Given the description of an element on the screen output the (x, y) to click on. 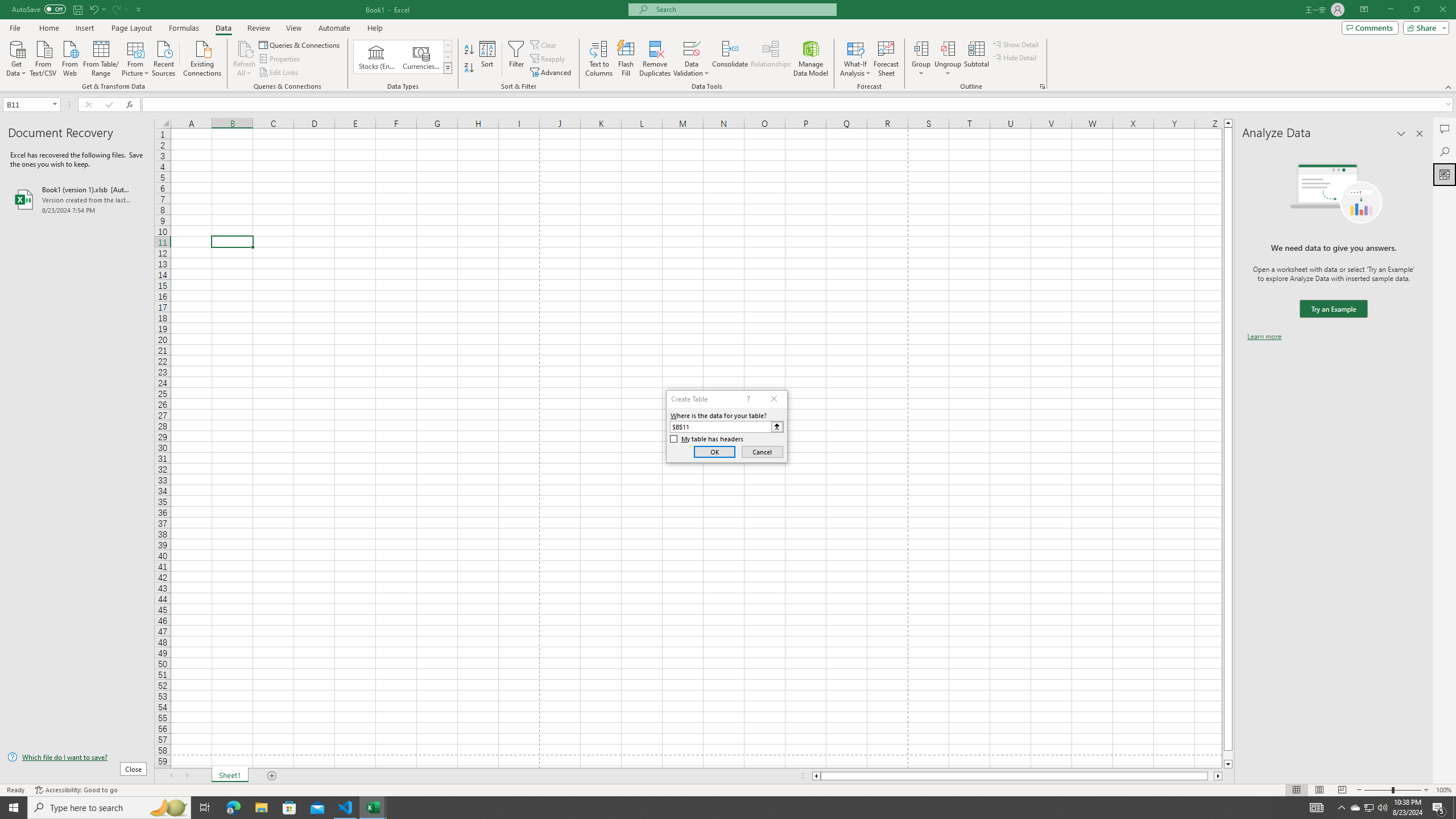
Learn more (1264, 336)
